Given the description of an element on the screen output the (x, y) to click on. 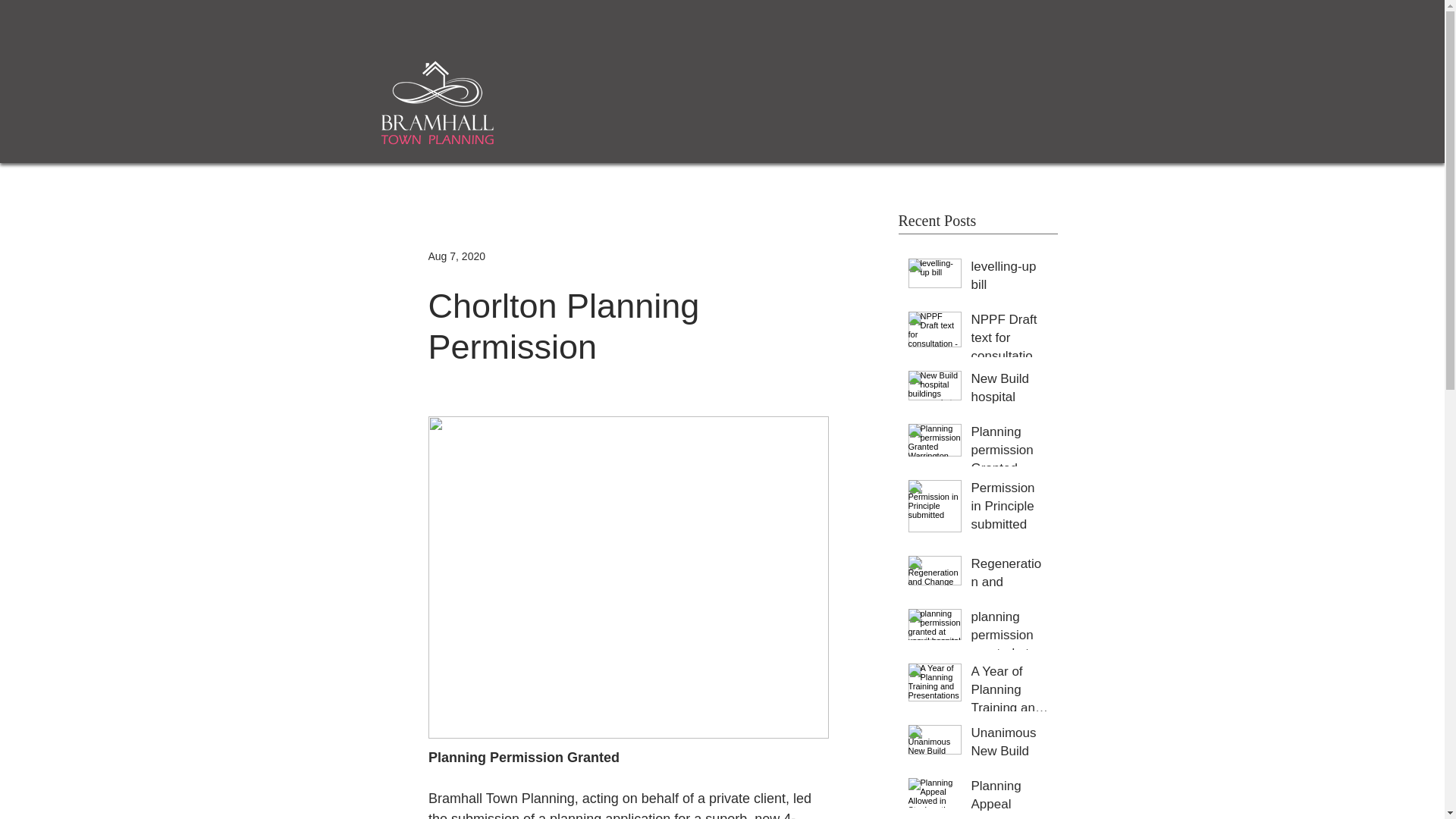
Permission in Principle submitted (1009, 508)
Aug 7, 2020 (456, 256)
A Year of Planning Training and Presentations (1009, 692)
levelling-up bill (1009, 278)
Unanimous New Build Hospital Approval (1009, 753)
NPPF Draft text for consultation - key points (1009, 341)
Planning Appeal Allowed in Stockport! (1009, 798)
Planning permission Granted Warrington (1009, 453)
